Given the description of an element on the screen output the (x, y) to click on. 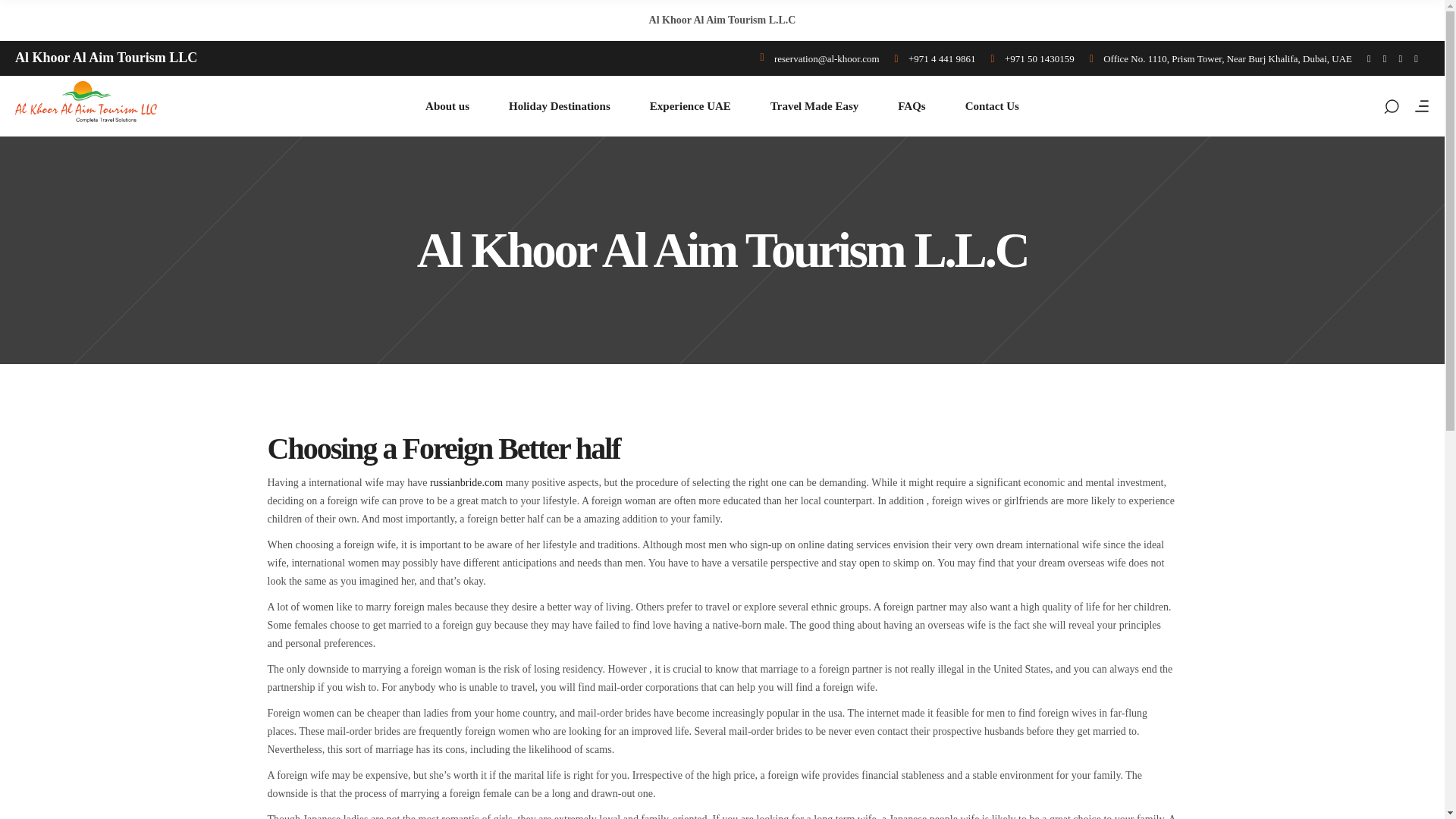
Holiday Destinations (559, 105)
Office No. 1110, Prism Tower, Near Burj Khalifa, Dubai, UAE (1220, 57)
Experience UAE (690, 105)
FAQs (910, 105)
Travel Made Easy (814, 105)
Contact Us (991, 105)
About us (447, 105)
